Given the description of an element on the screen output the (x, y) to click on. 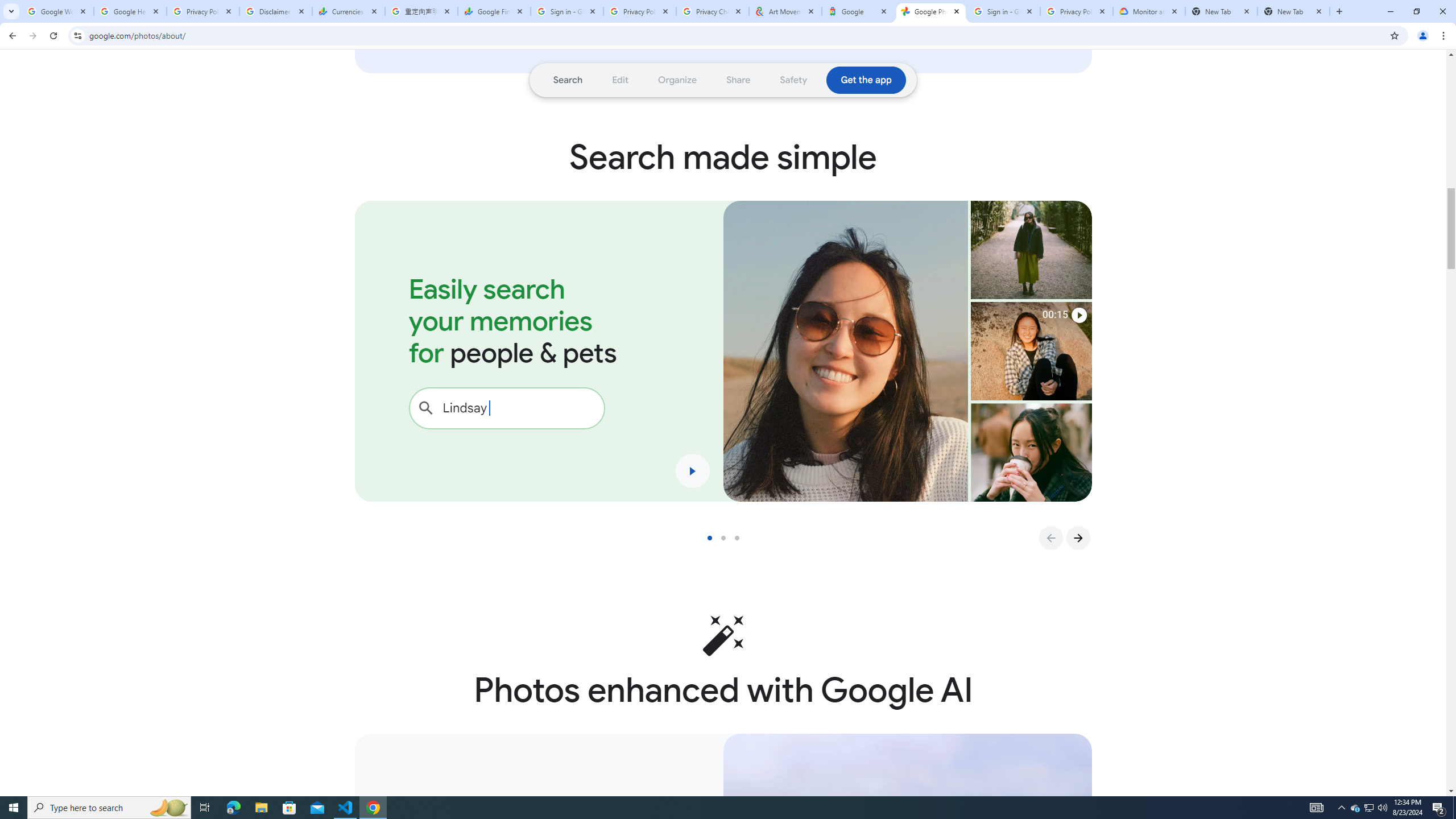
Go to slide 1 (713, 537)
Go to section: Edit (620, 80)
New Tab (1221, 11)
Sign in - Google Accounts (566, 11)
Go to slide 3 (740, 537)
Go to section: Share (737, 80)
